Given the description of an element on the screen output the (x, y) to click on. 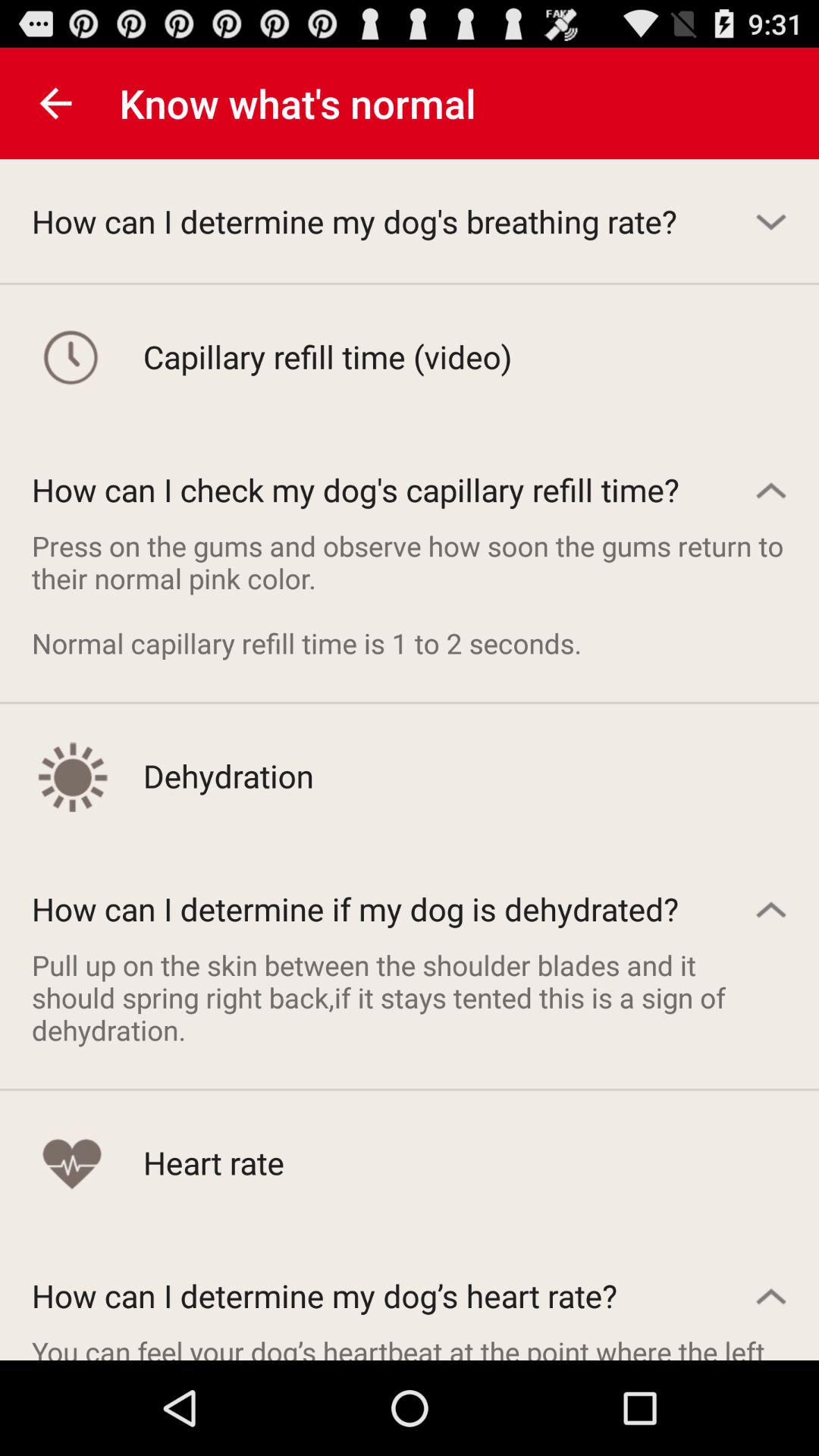
turn on item next to the know what s (55, 103)
